Given the description of an element on the screen output the (x, y) to click on. 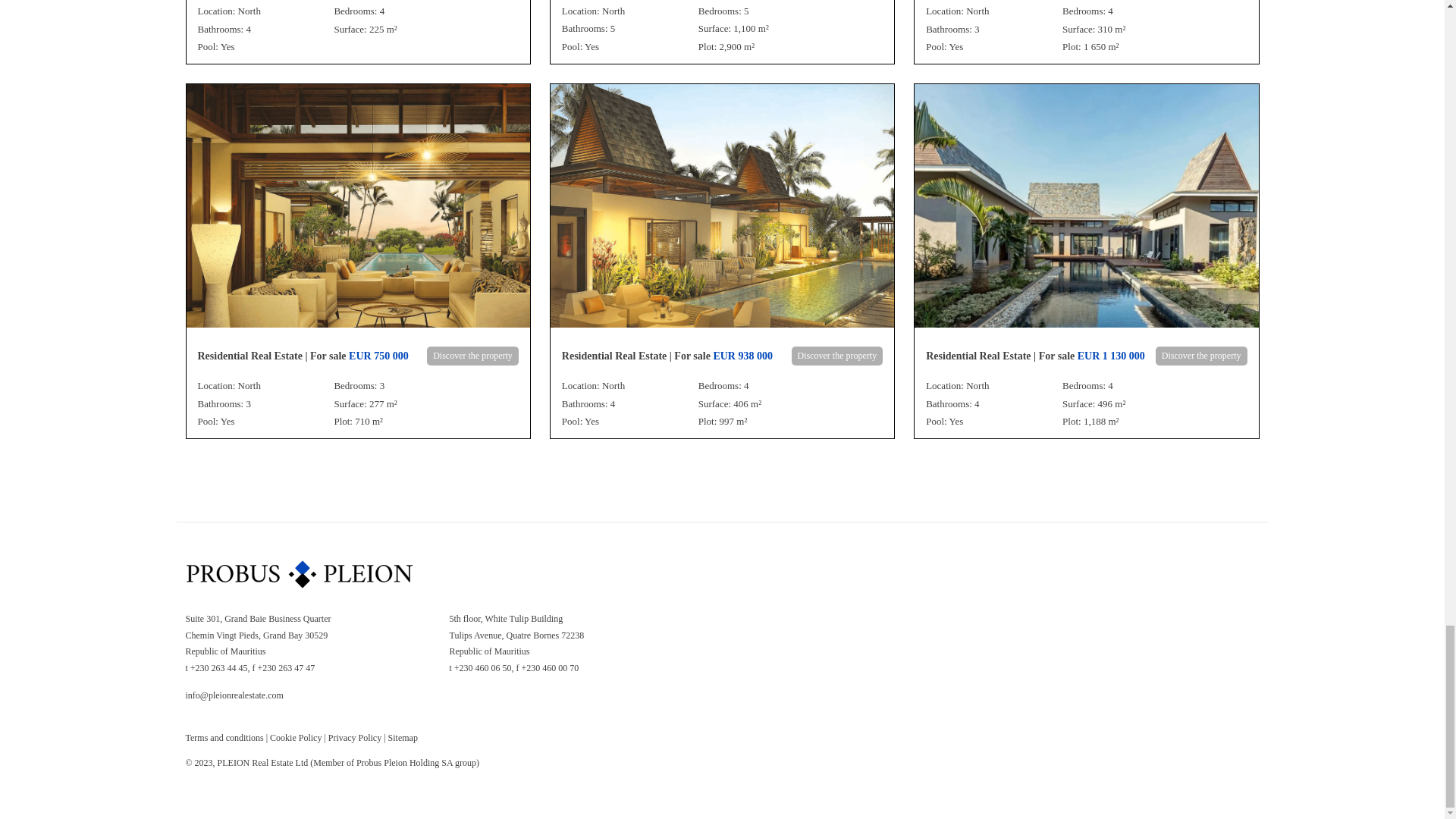
Discover the property (472, 356)
Privacy Policy (355, 737)
Discover the property (837, 356)
Sitemap (402, 737)
Terms and conditions (223, 737)
Discover the property (1201, 356)
Cookie Policy (295, 737)
